Given the description of an element on the screen output the (x, y) to click on. 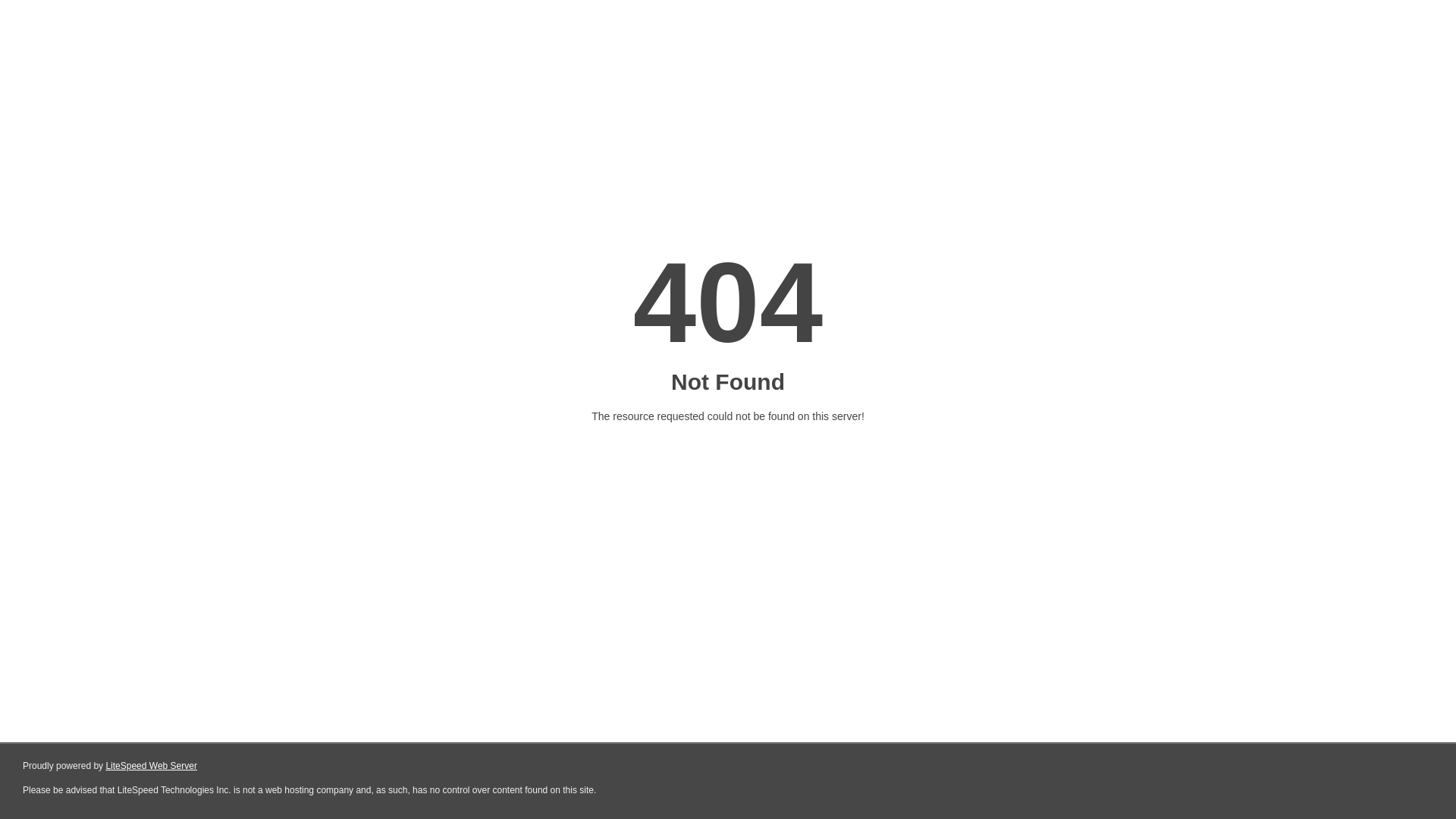
LiteSpeed Web Server (150, 765)
